Given the description of an element on the screen output the (x, y) to click on. 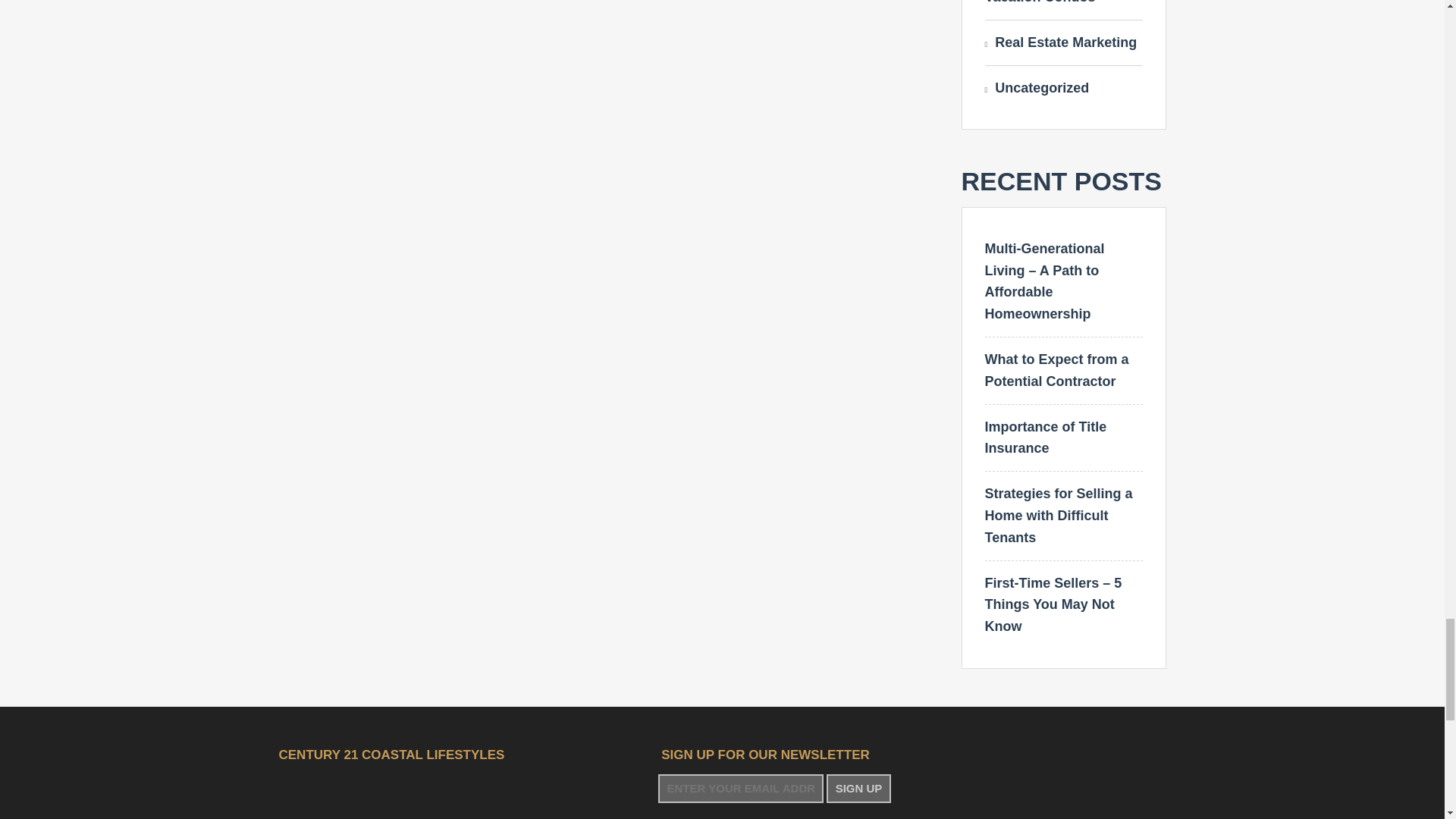
Sign up (859, 788)
